Given the description of an element on the screen output the (x, y) to click on. 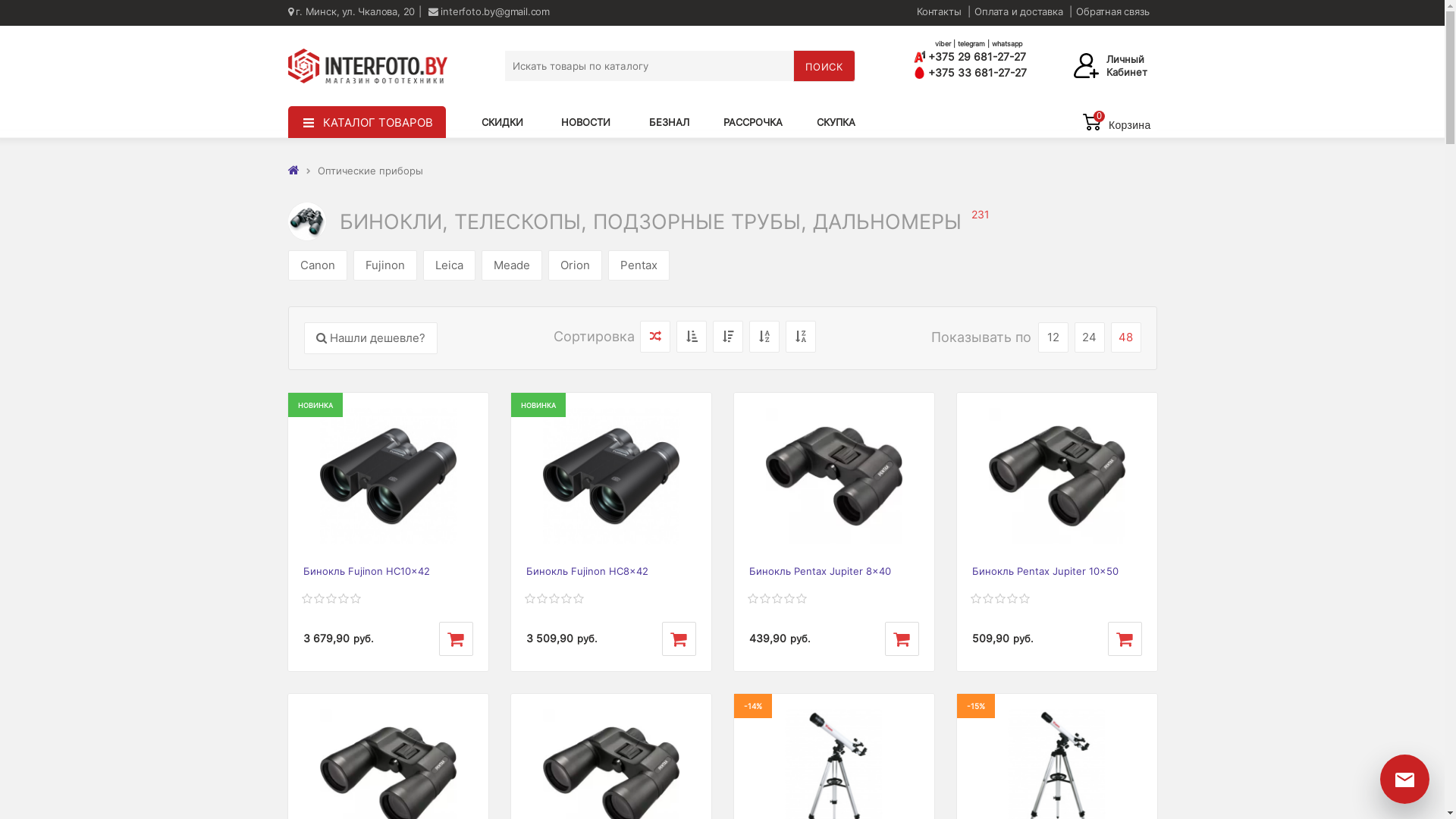
48 Element type: text (1125, 337)
Fujinon Element type: text (385, 265)
Canon Element type: text (317, 265)
Pentax Element type: text (638, 265)
Meade Element type: text (510, 265)
+375 29 681-27-27 Element type: text (991, 56)
Orion Element type: text (574, 265)
interfoto.by@gmail.com Element type: text (488, 11)
24 Element type: text (1088, 337)
12 Element type: text (1052, 337)
+375 33 681-27-27 Element type: text (969, 71)
Leica Element type: text (449, 265)
